Given the description of an element on the screen output the (x, y) to click on. 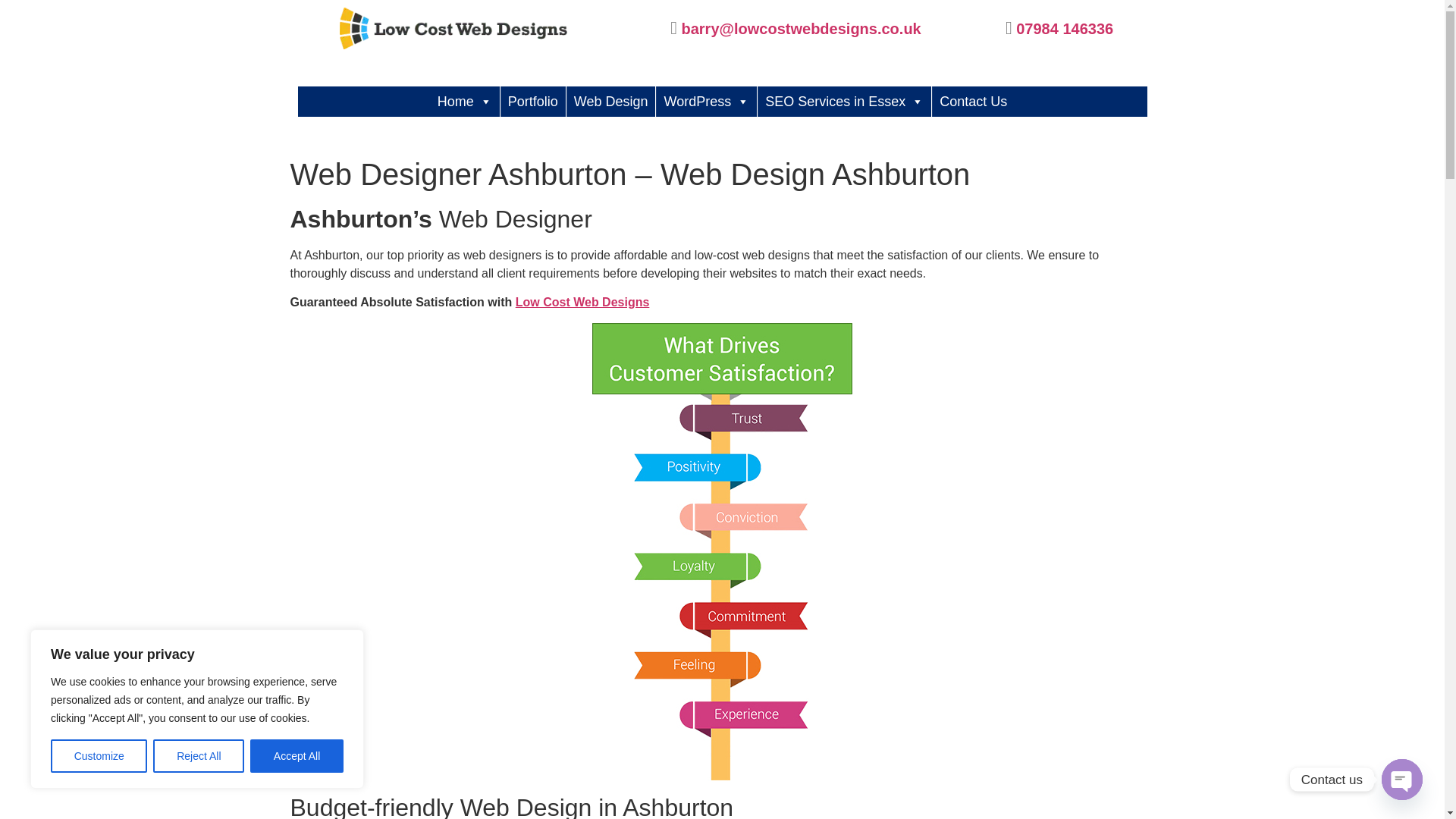
Portfolio (533, 101)
The Power of Low Cost Web Designs (582, 301)
07984 146336 (1064, 27)
Accept All (296, 756)
SEO Services in Essex (844, 101)
Web Design (611, 101)
Home (464, 101)
Reject All (198, 756)
Customize (98, 756)
WordPress (706, 101)
